Given the description of an element on the screen output the (x, y) to click on. 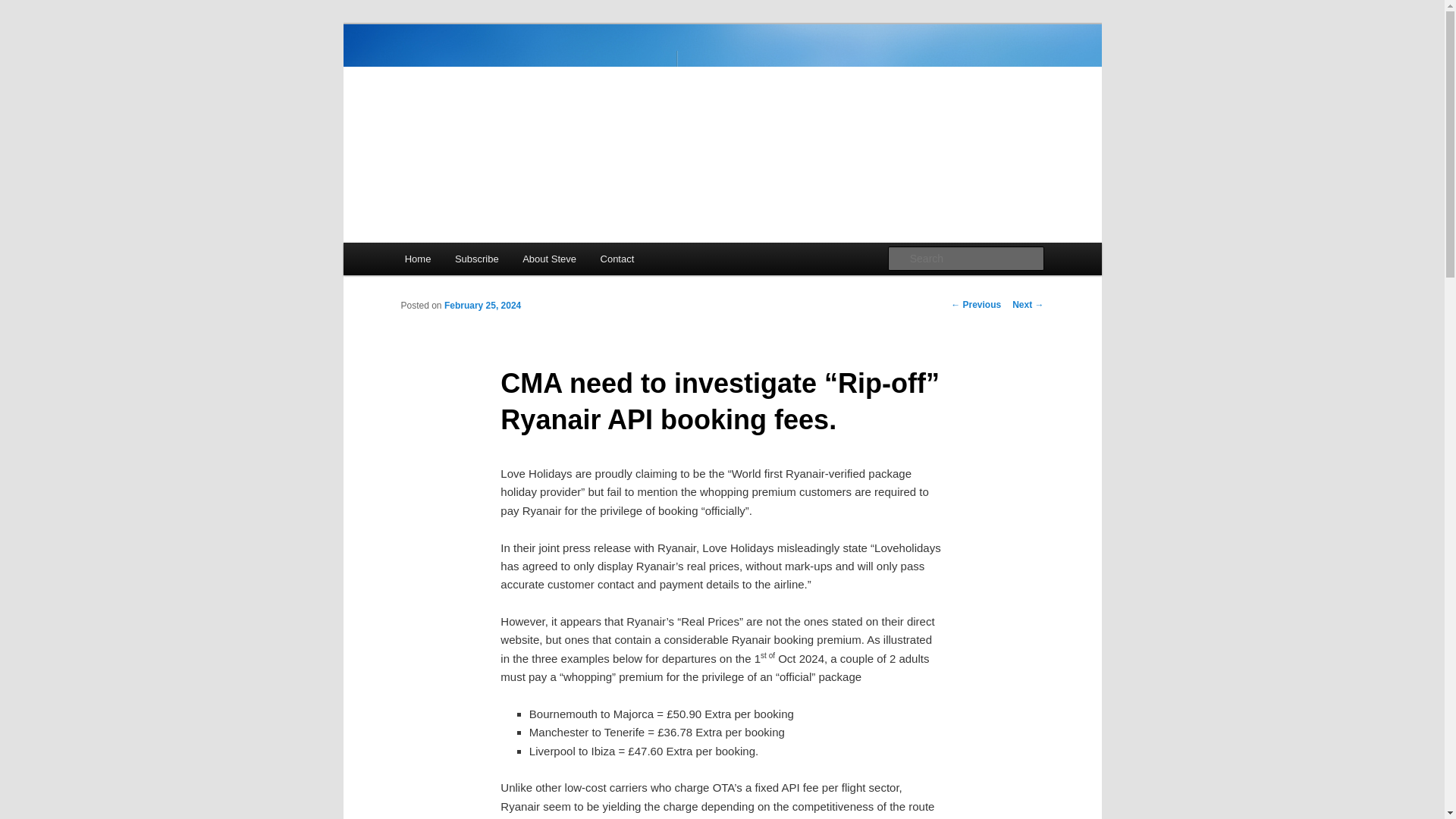
Skip to secondary content (479, 261)
Steve Endacott Blog (510, 78)
Subscribe (476, 258)
Skip to secondary content (479, 261)
12:12 pm (482, 305)
About Steve (549, 258)
Steve Endacott Blog (510, 78)
Skip to primary content (472, 261)
Home (417, 258)
Skip to primary content (472, 261)
